Given the description of an element on the screen output the (x, y) to click on. 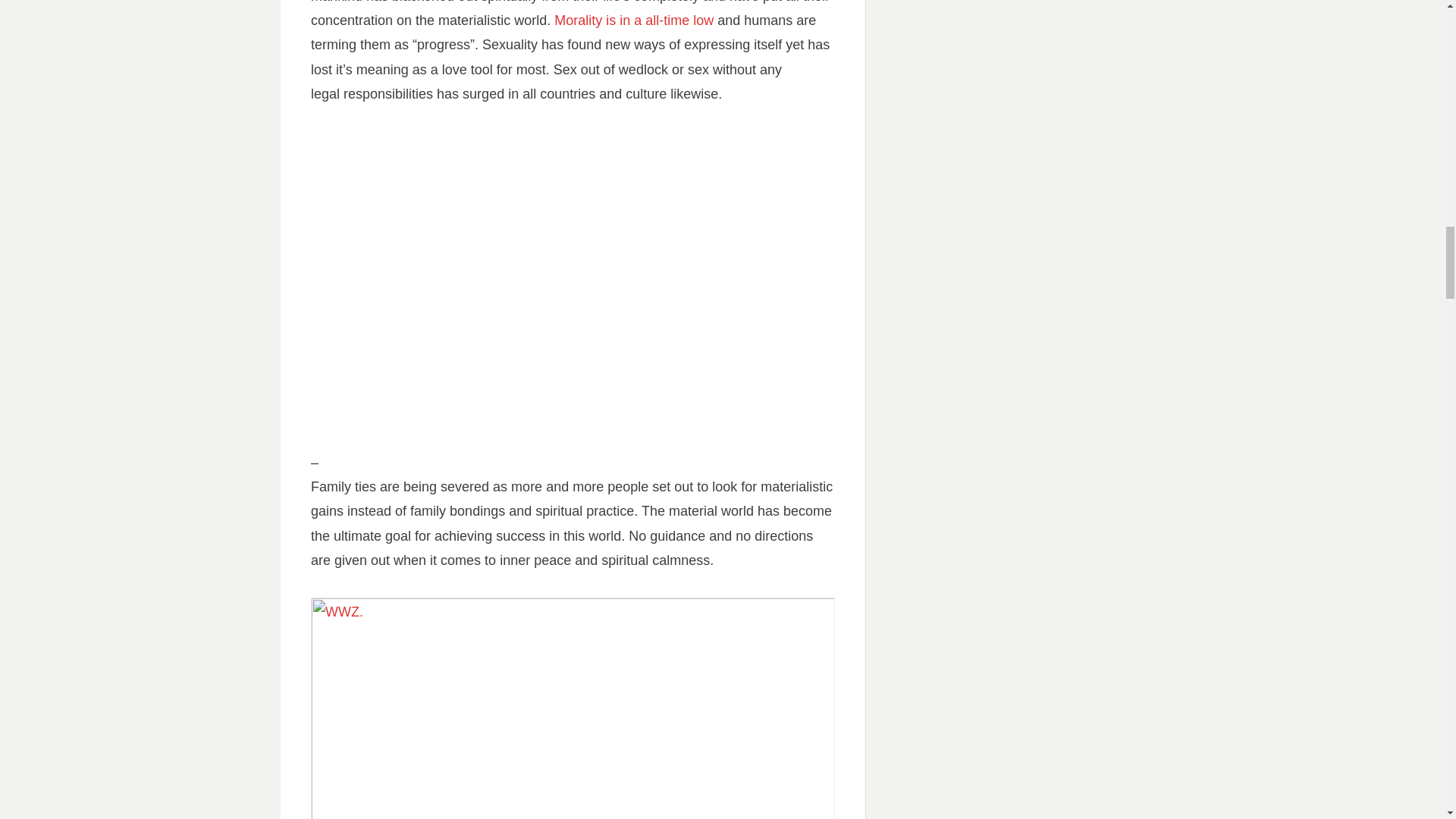
Morality is in a all-time low (633, 20)
